Given the description of an element on the screen output the (x, y) to click on. 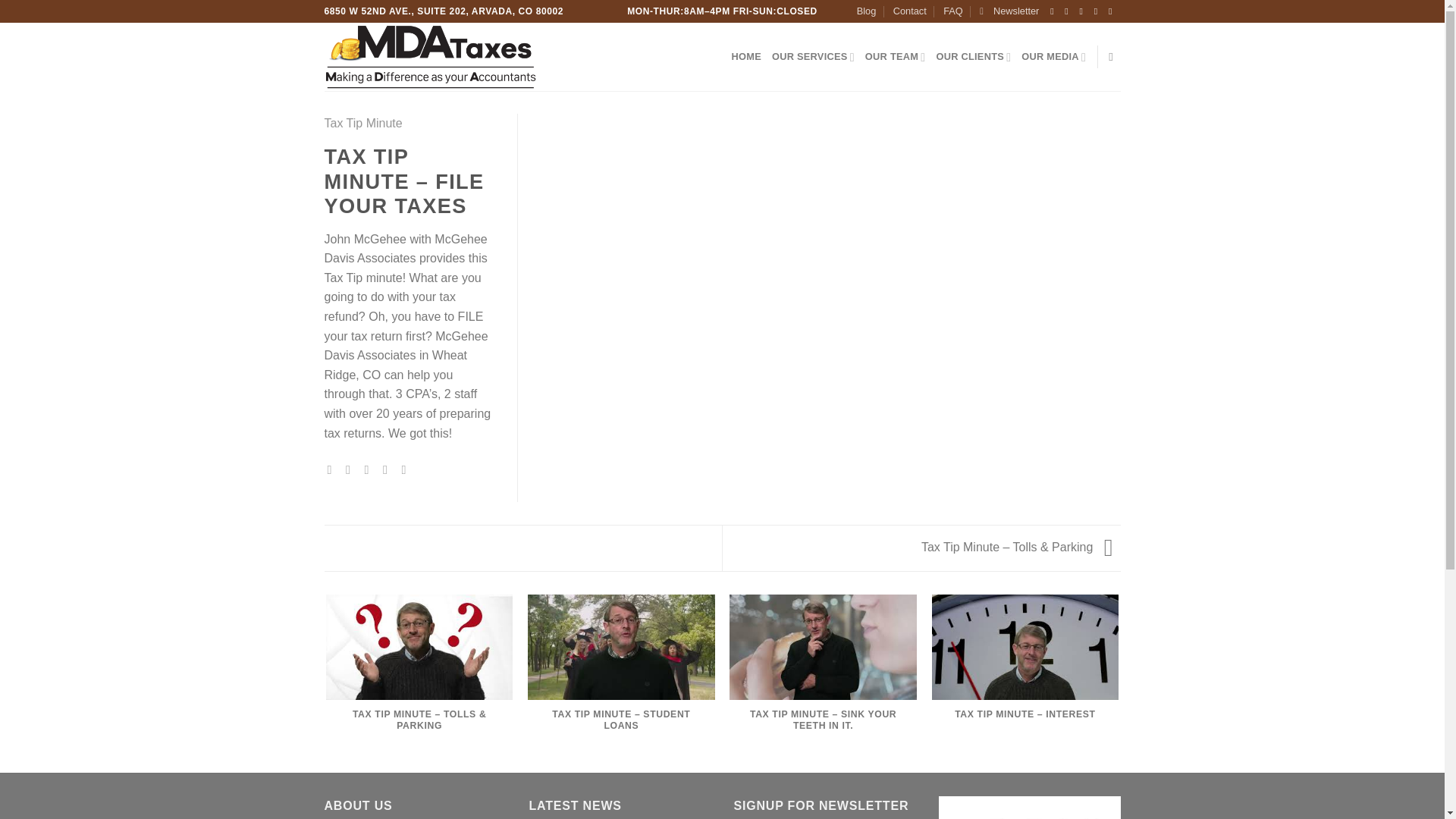
HOME (746, 56)
OUR SERVICES (812, 56)
OUR CLIENTS (973, 56)
OUR TEAM (895, 56)
Sign up for Newsletter (1009, 11)
OUR MEDIA (1054, 56)
Newsletter (1009, 11)
Contact (909, 11)
